Given the description of an element on the screen output the (x, y) to click on. 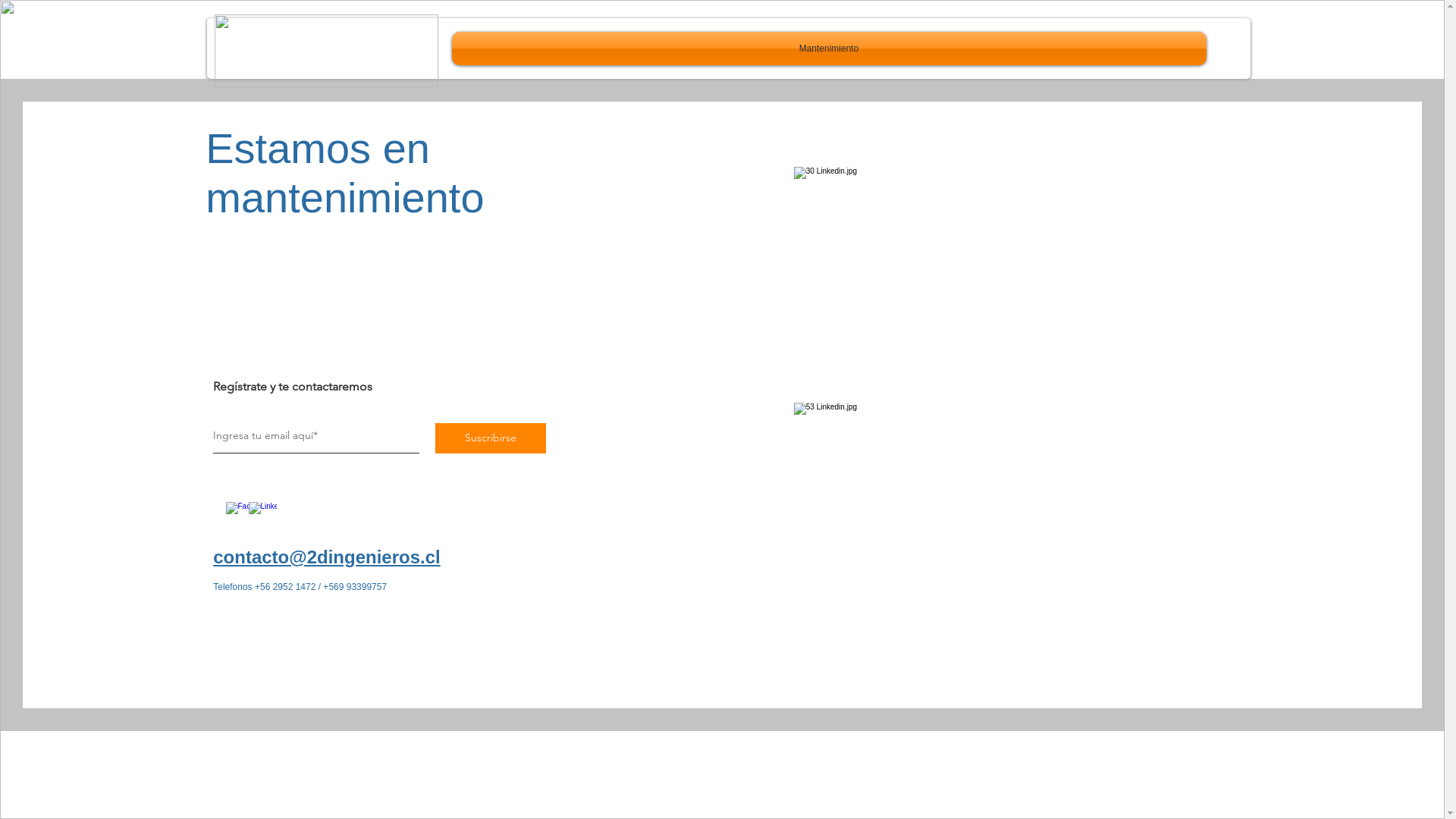
contacto@2dingenieros.cl Element type: text (326, 556)
Suscribirse Element type: text (490, 438)
Mantenimiento Element type: text (828, 48)
